Given the description of an element on the screen output the (x, y) to click on. 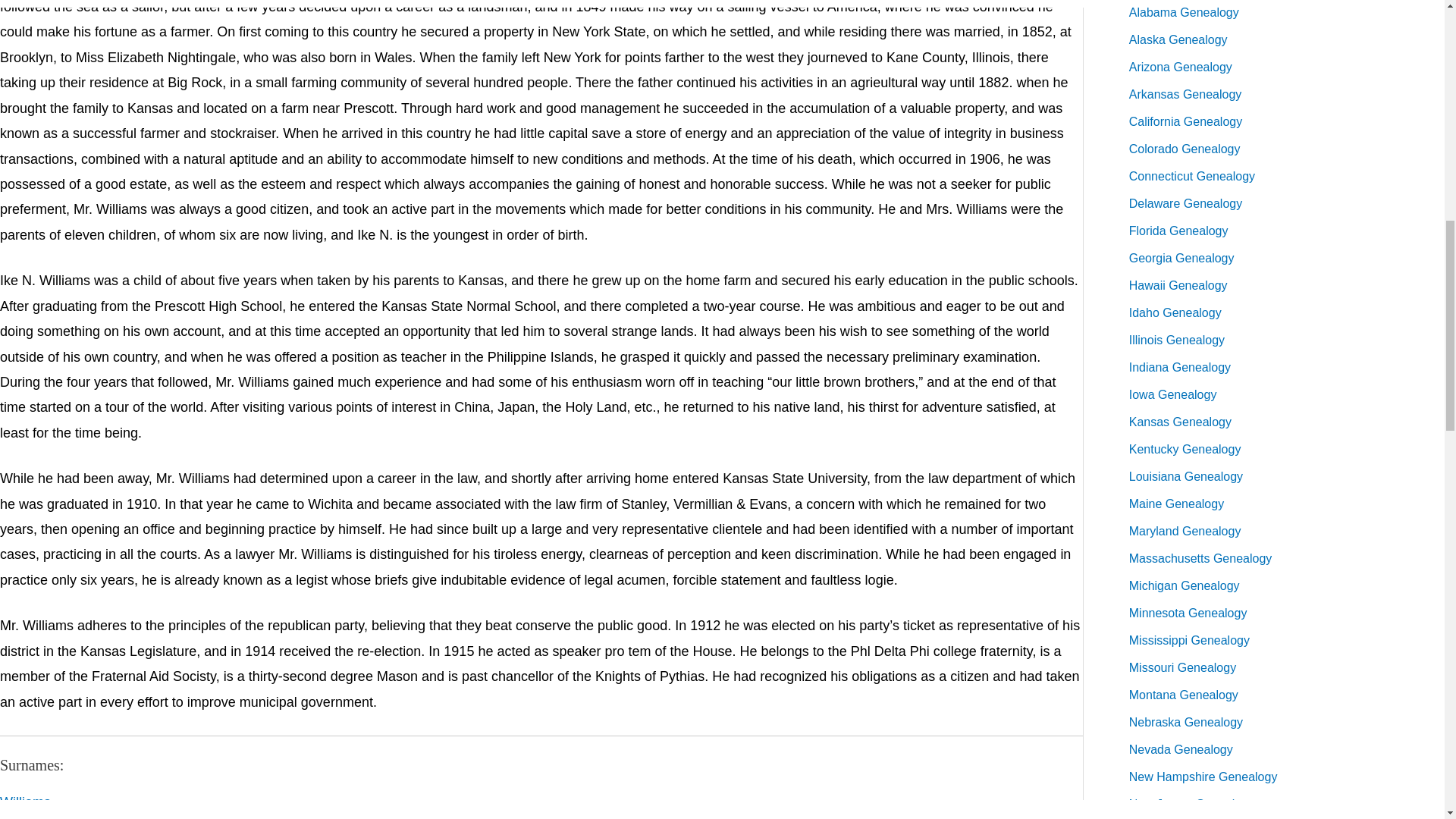
Alabama Genealogy (1184, 11)
Arkansas Genealogy (1185, 93)
Alaska Genealogy (1178, 39)
Alaska Genealogy (1178, 39)
Connecticut Genealogy (1192, 175)
Arizona Genealogy (1180, 66)
California Genealogy (1185, 121)
Arizona Genealogy (1180, 66)
Alabama Genealogy (1184, 11)
Colorado Genealogy (1184, 148)
Williams (25, 801)
